Given the description of an element on the screen output the (x, y) to click on. 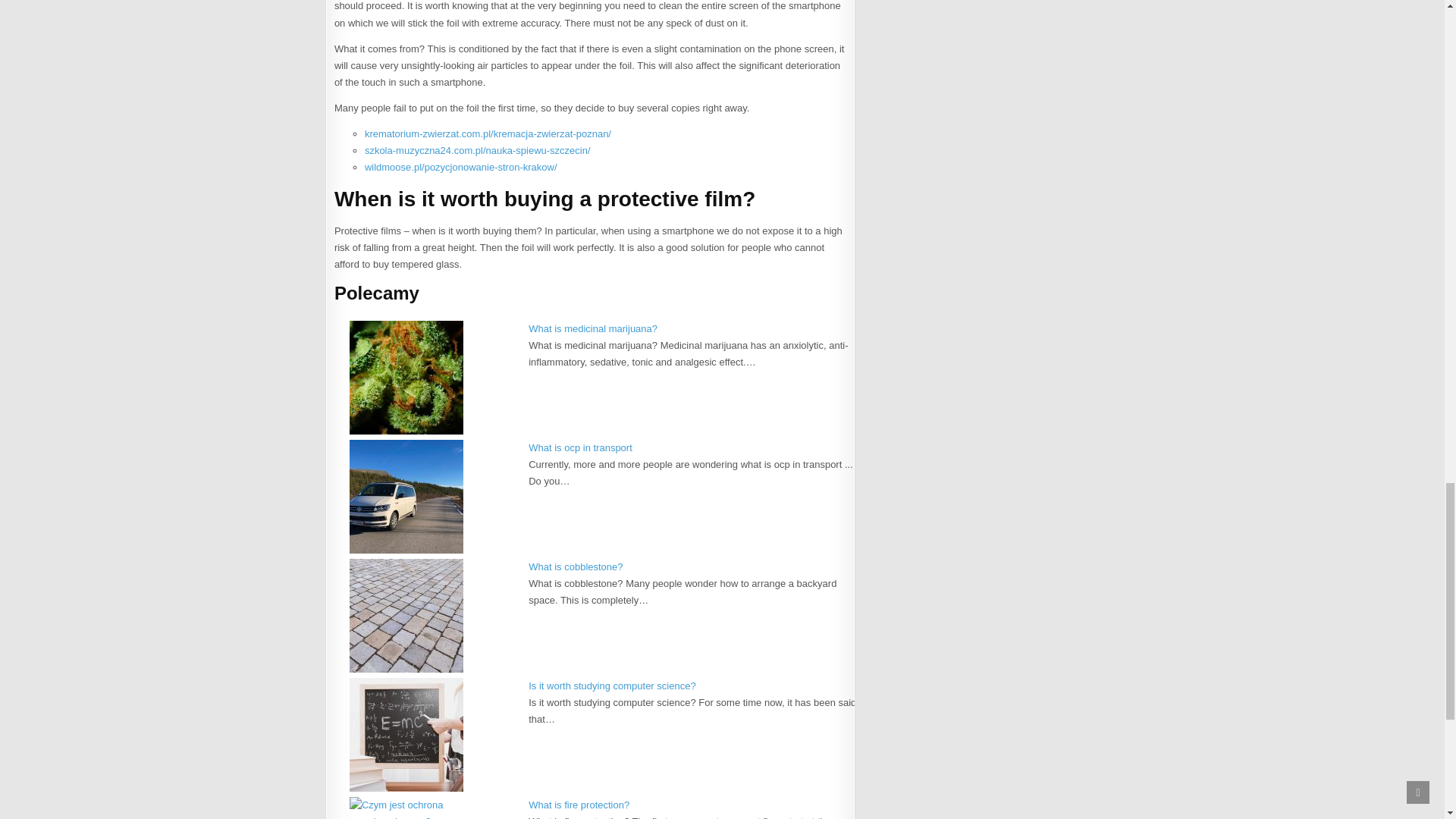
Is it worth studying computer science? (611, 685)
What is fire protection? (578, 804)
What is cobblestone? (575, 566)
What is medicinal marijuana? (593, 328)
What is ocp in transport (579, 447)
